Given the description of an element on the screen output the (x, y) to click on. 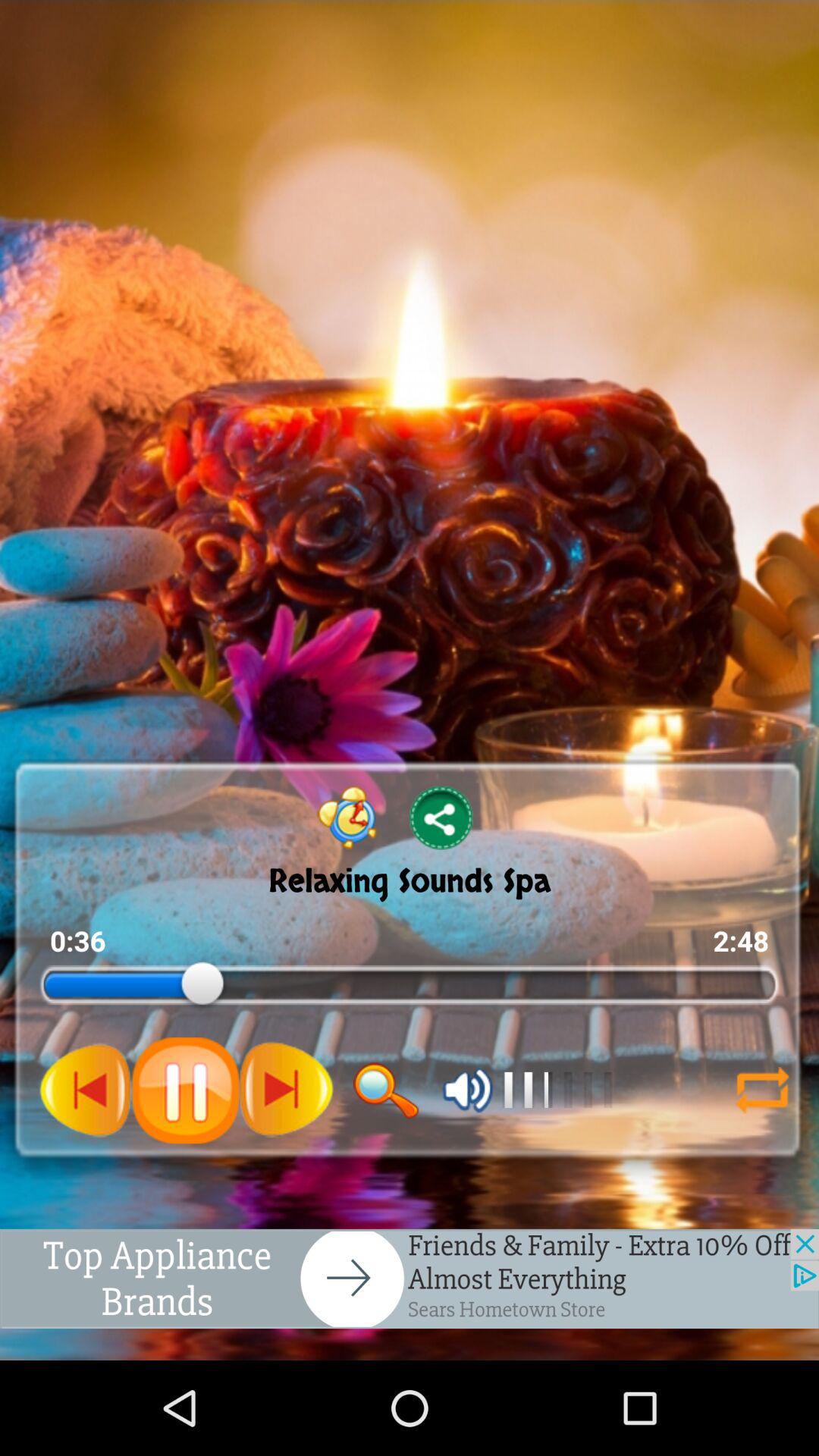
advisement (409, 1278)
